Given the description of an element on the screen output the (x, y) to click on. 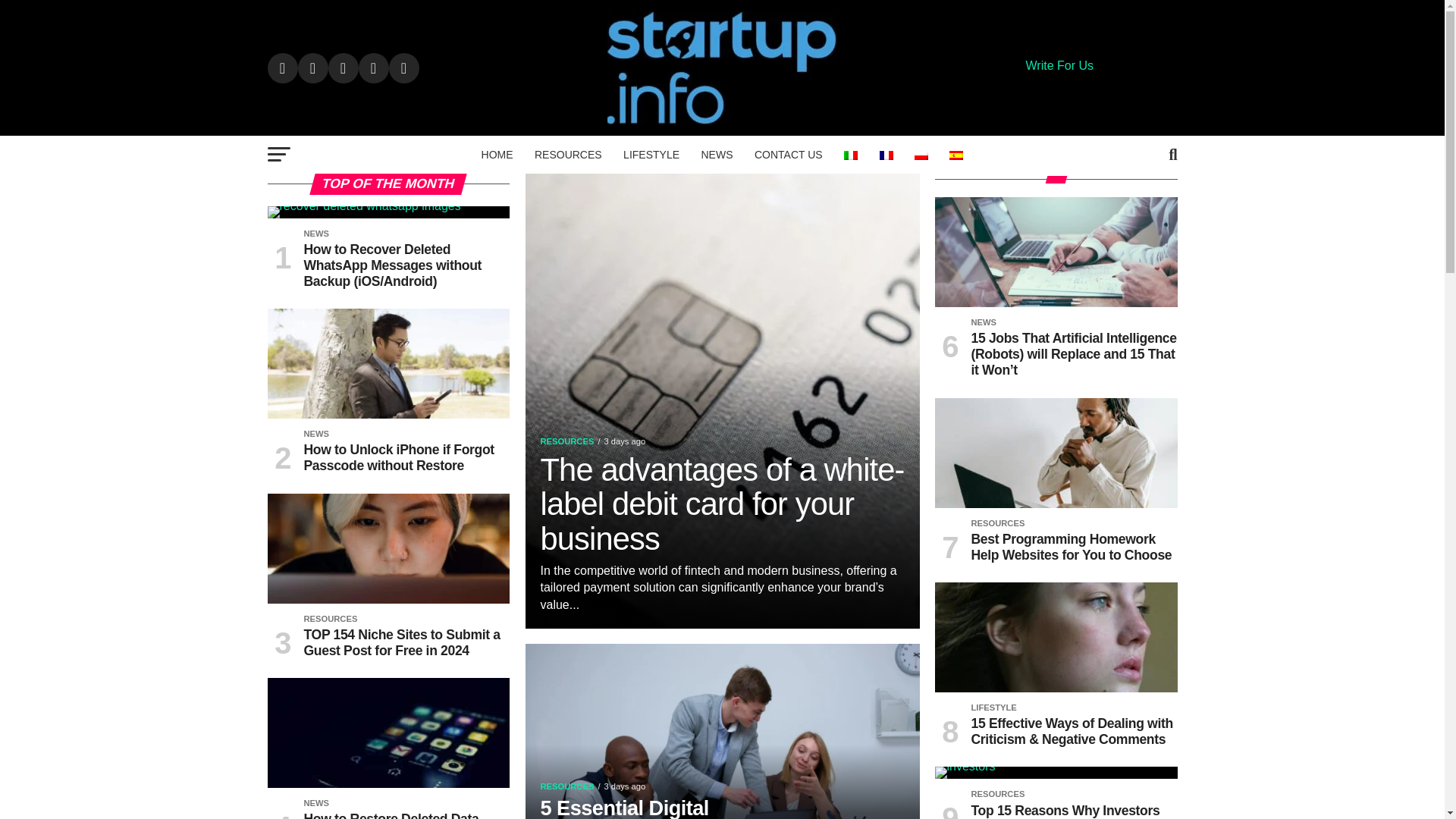
RESOURCES (568, 154)
NEWS (716, 154)
Write For Us (1059, 65)
LIFESTYLE (651, 154)
HOME (496, 154)
